Given the description of an element on the screen output the (x, y) to click on. 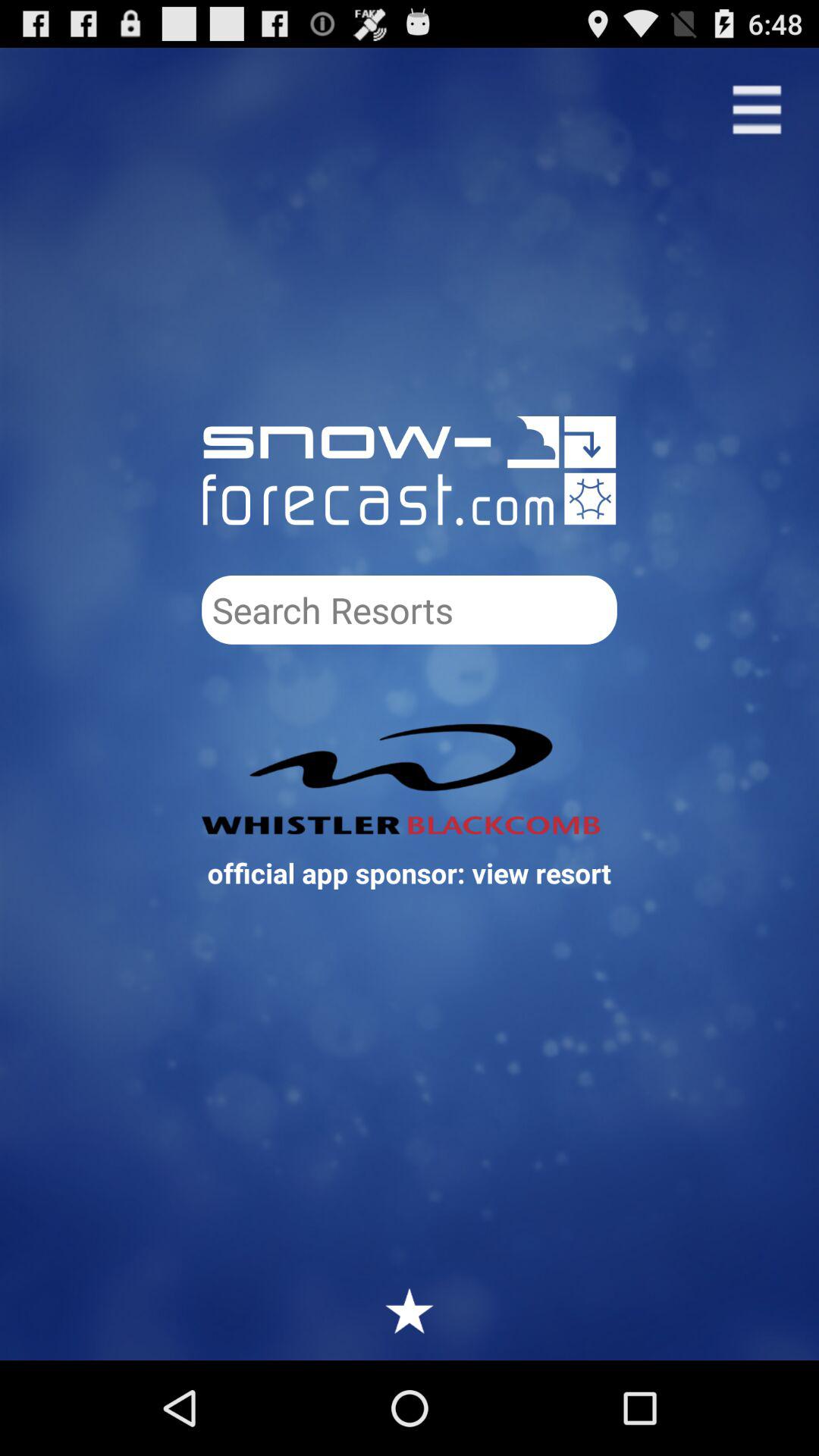
go to action dots (757, 109)
